Given the description of an element on the screen output the (x, y) to click on. 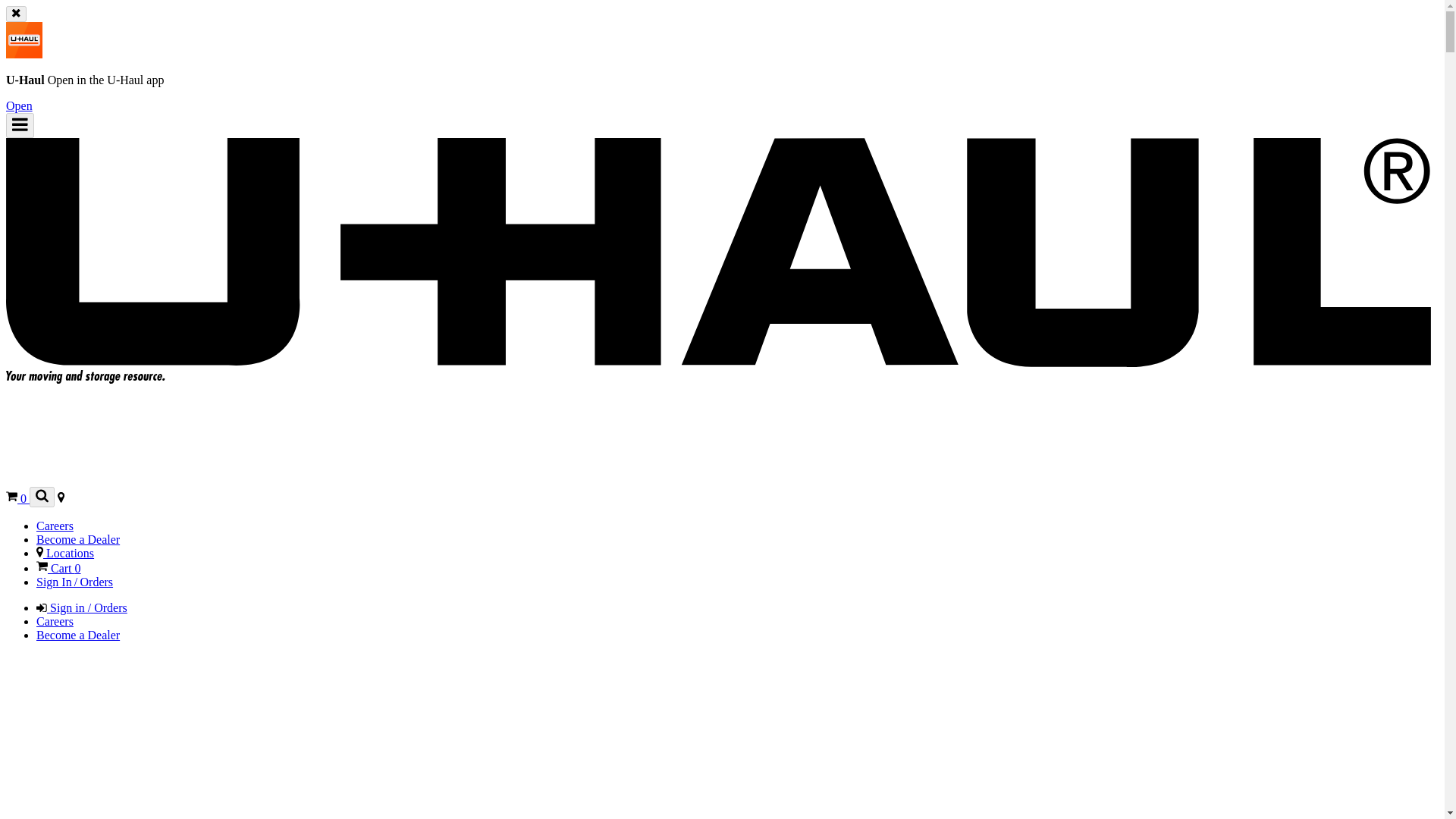
Become a Dealer (77, 539)
Become a Dealer (77, 634)
Careers (55, 525)
Careers (55, 621)
0 (17, 498)
Cart 0 (58, 567)
Open (18, 105)
Locations (65, 553)
